Given the description of an element on the screen output the (x, y) to click on. 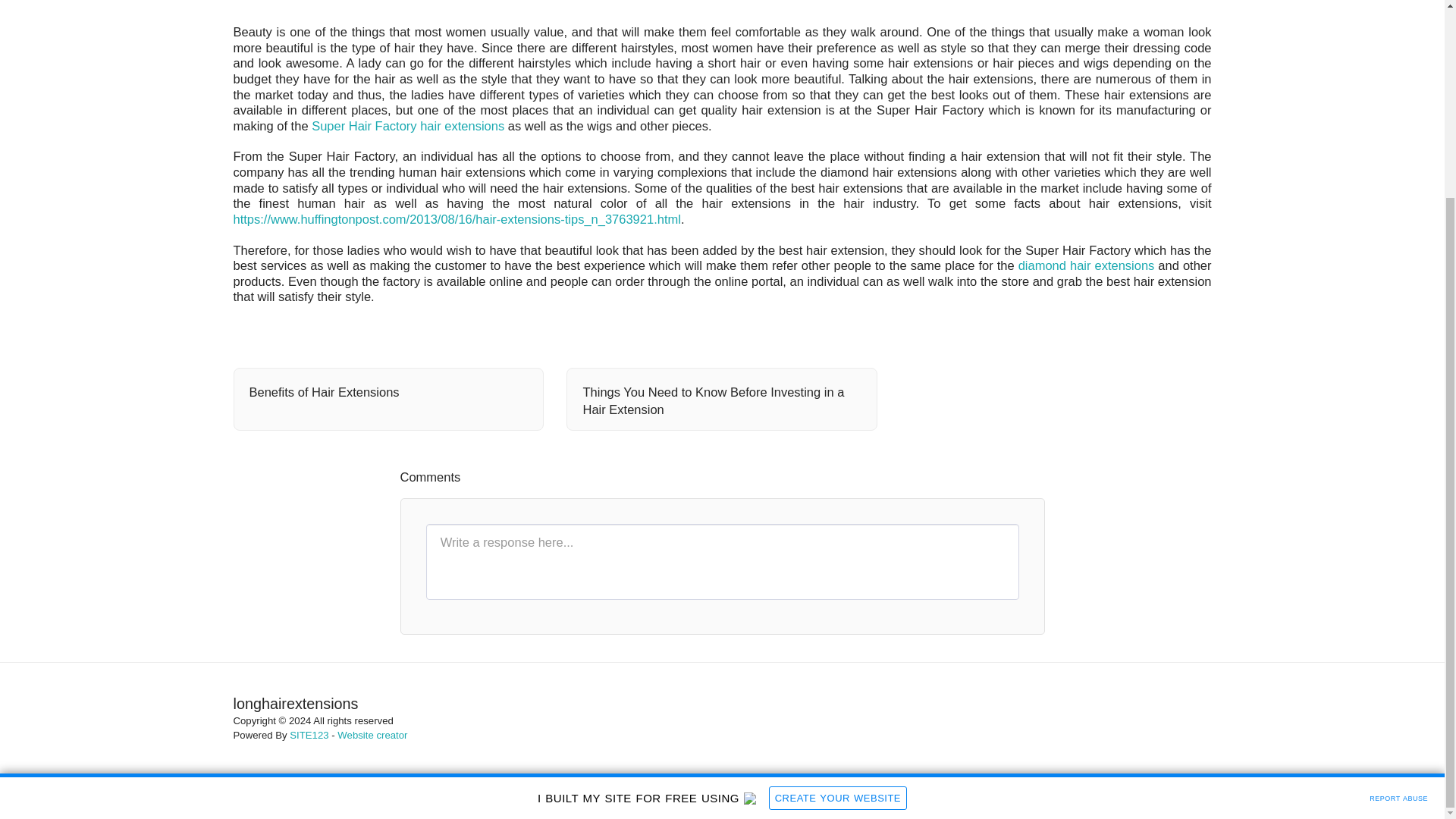
Things You Need to Know Before Investing in a Hair Extension (721, 401)
Share on Facebook (1111, 332)
SITE123 (309, 735)
Website creator (372, 735)
Tweet (1139, 332)
REPORT ABUSE (1398, 546)
Pin it (1168, 332)
diamond hair extensions (1085, 264)
Super Hair Factory hair extensions (407, 125)
RSS (1196, 332)
Benefits of Hair Extensions (387, 393)
